Given the description of an element on the screen output the (x, y) to click on. 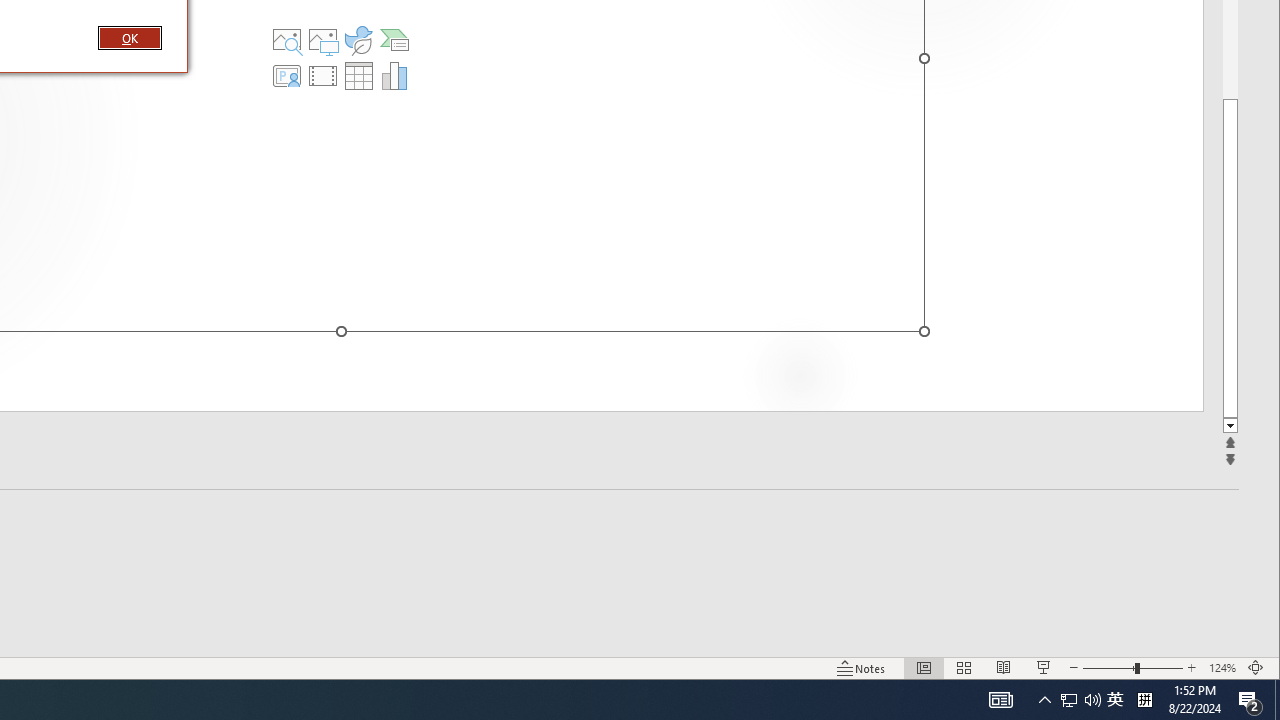
User Promoted Notification Area (1080, 699)
Stock Images (287, 39)
Action Center, 2 new notifications (1250, 699)
Insert Chart (394, 75)
Insert Video (323, 75)
Notification Chevron (1044, 699)
Line down (1230, 426)
Insert Cameo (287, 75)
Tray Input Indicator - Chinese (Simplified, China) (1144, 699)
